Given the description of an element on the screen output the (x, y) to click on. 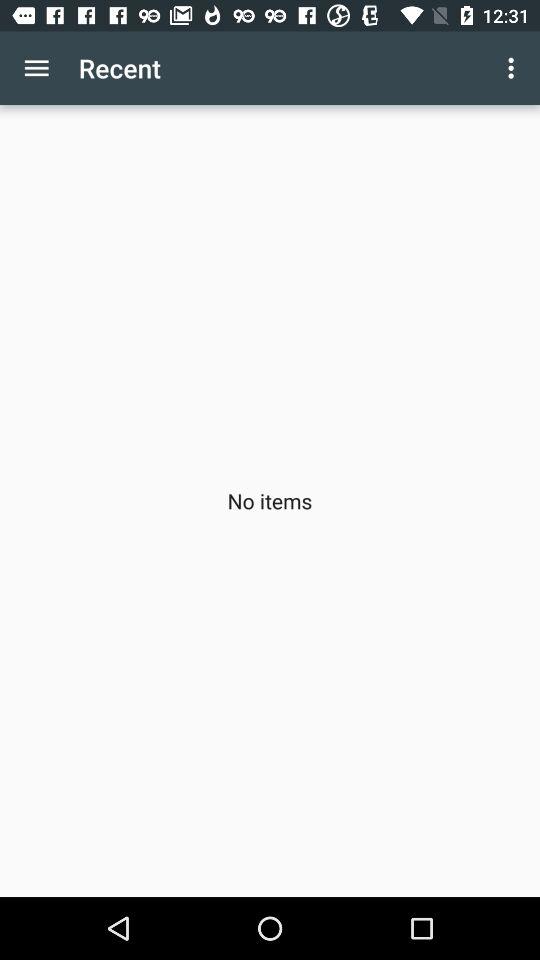
click app above no items item (36, 68)
